Given the description of an element on the screen output the (x, y) to click on. 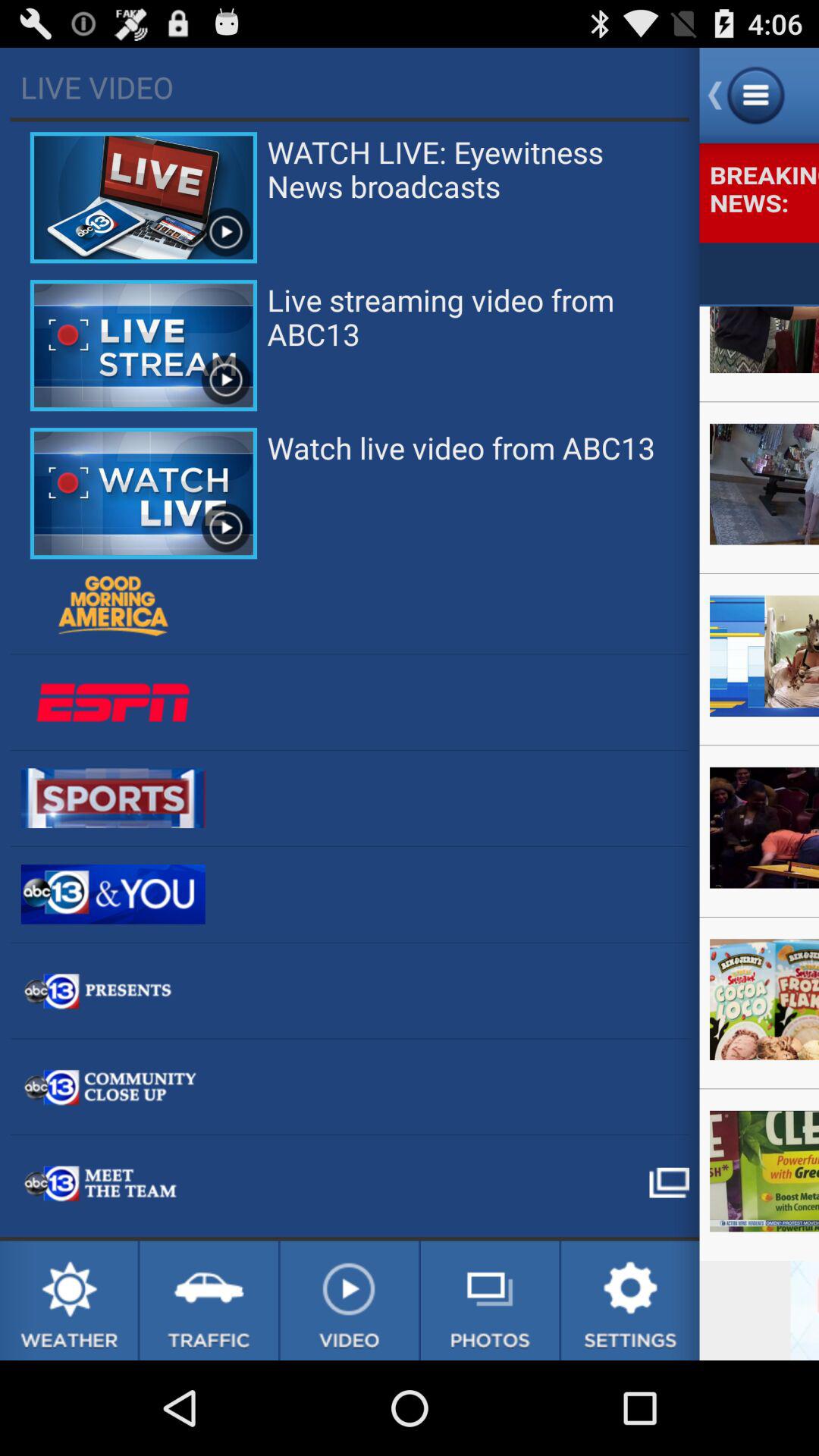
go to photos (489, 1300)
